Given the description of an element on the screen output the (x, y) to click on. 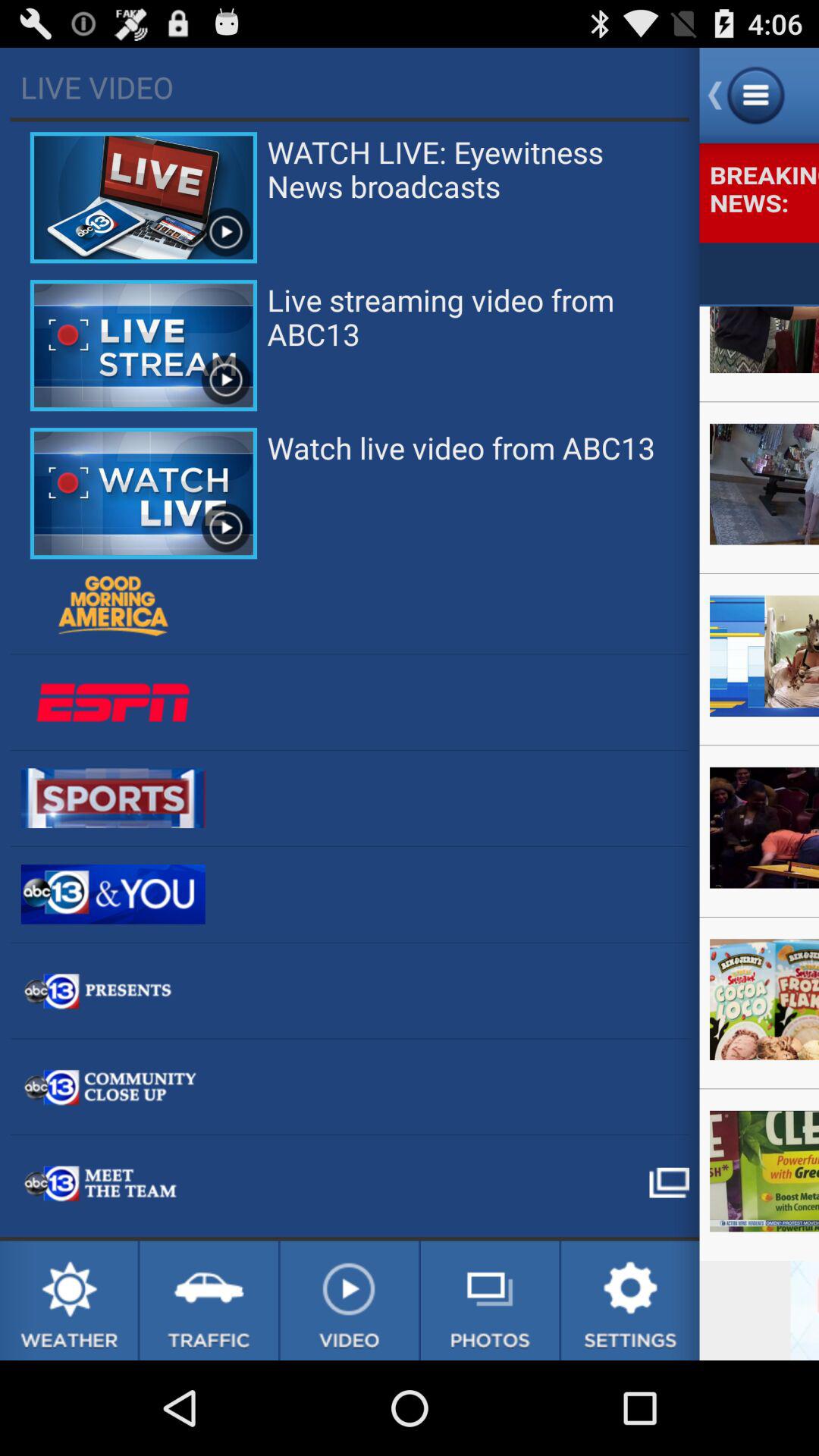
go to photos (489, 1300)
